Given the description of an element on the screen output the (x, y) to click on. 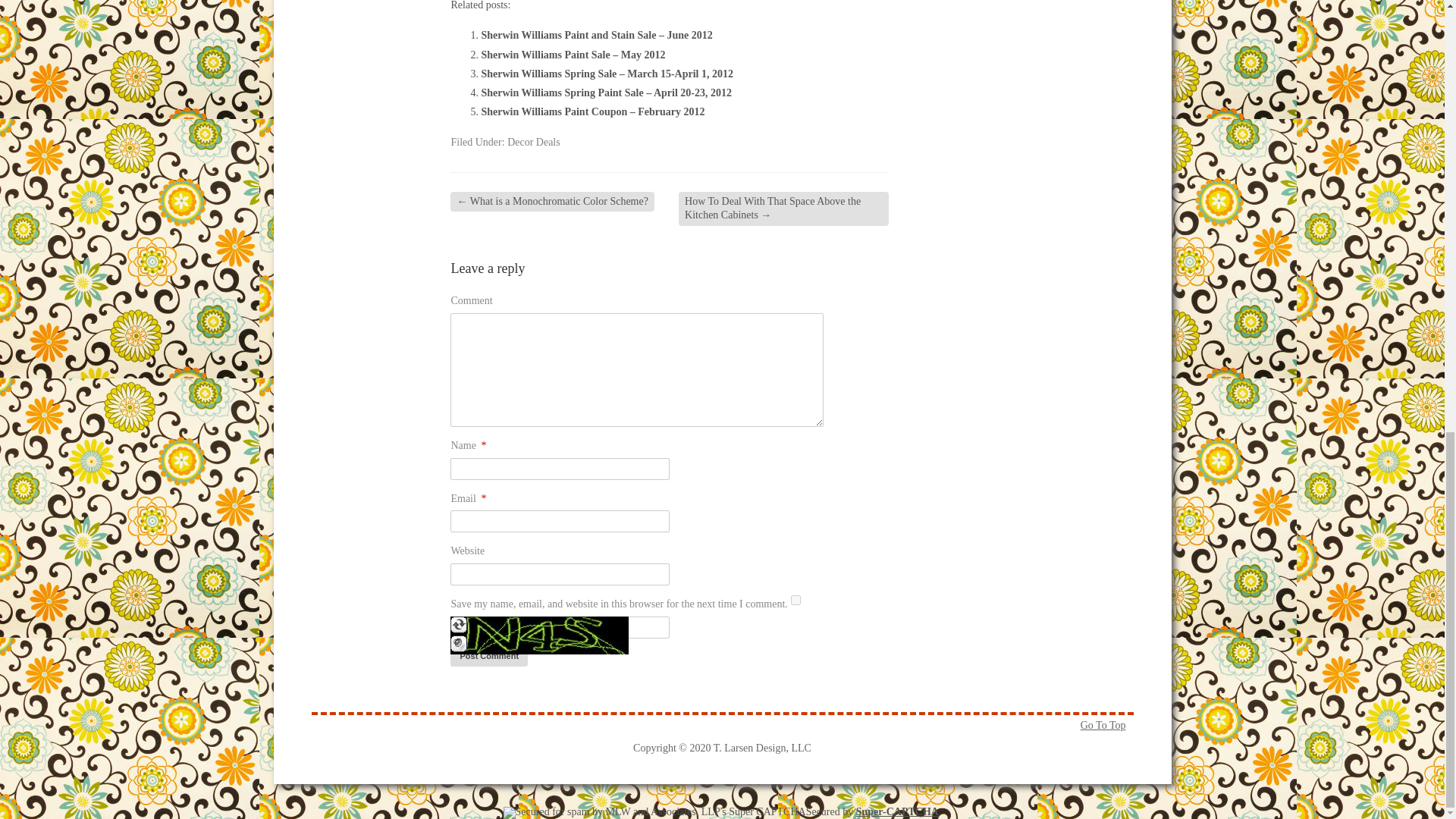
yes (795, 600)
Post Comment (488, 656)
